Given the description of an element on the screen output the (x, y) to click on. 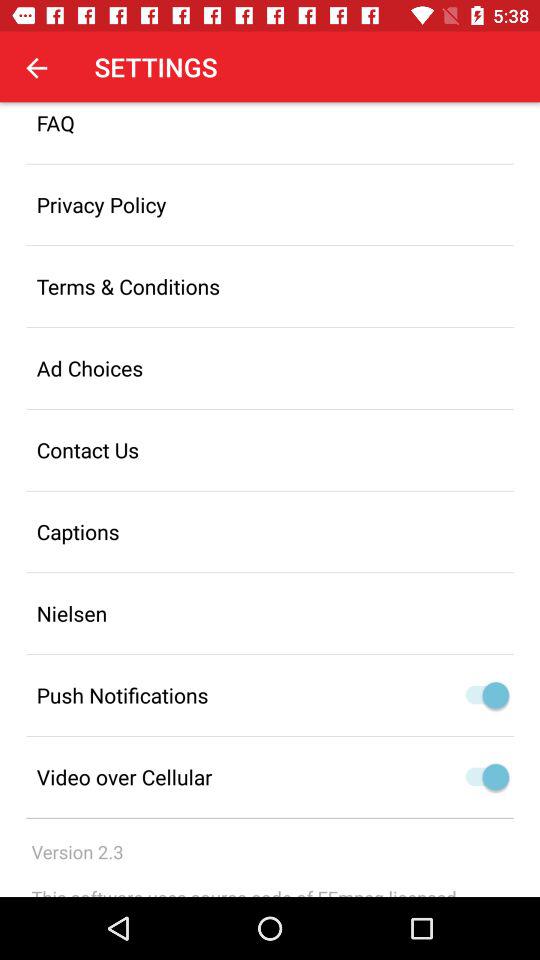
open the icon above the faq icon (36, 67)
